Given the description of an element on the screen output the (x, y) to click on. 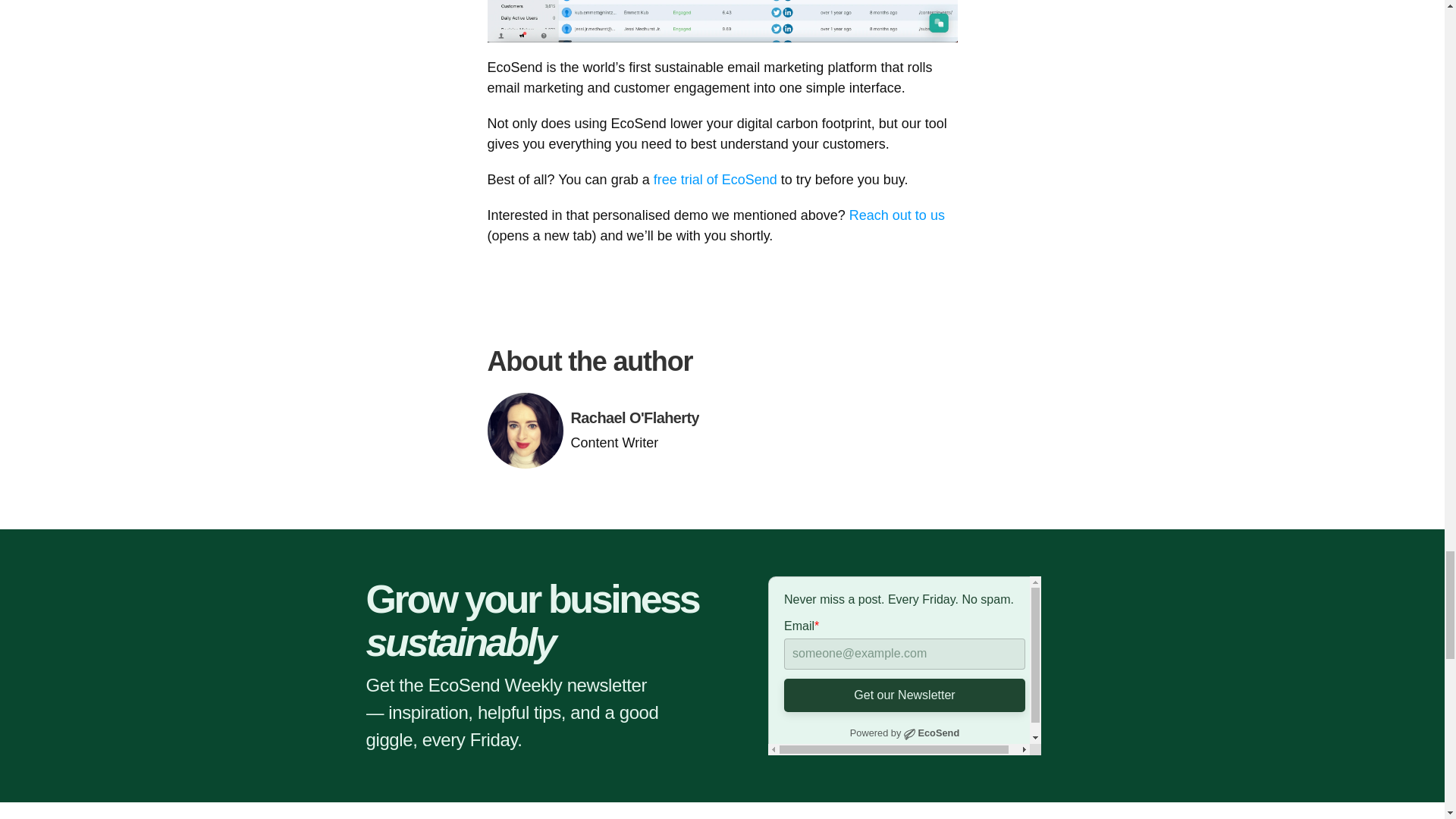
free trial of EcoSend (715, 179)
Reach out to us  (898, 215)
